Given the description of an element on the screen output the (x, y) to click on. 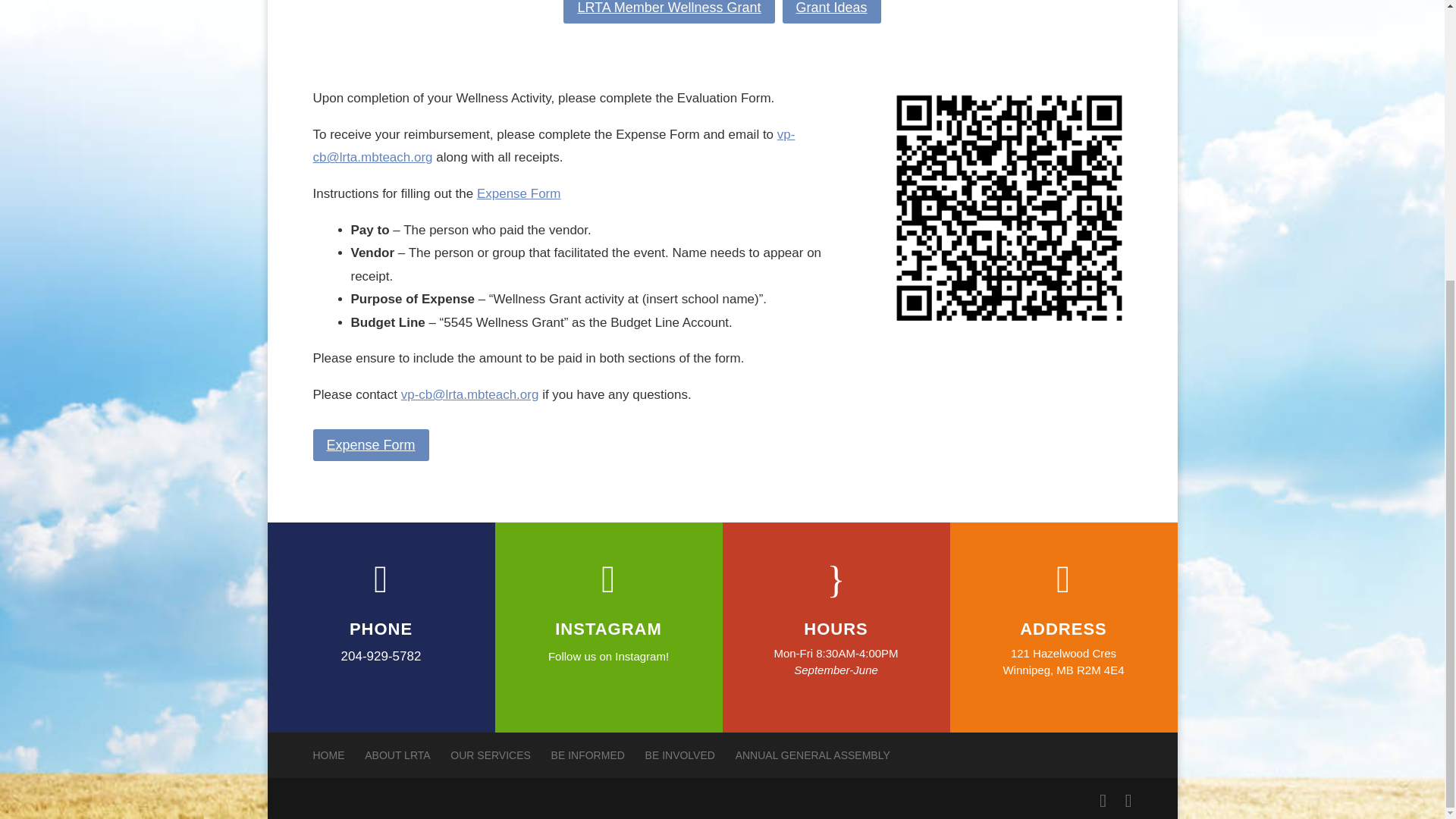
qr (1009, 208)
